Given the description of an element on the screen output the (x, y) to click on. 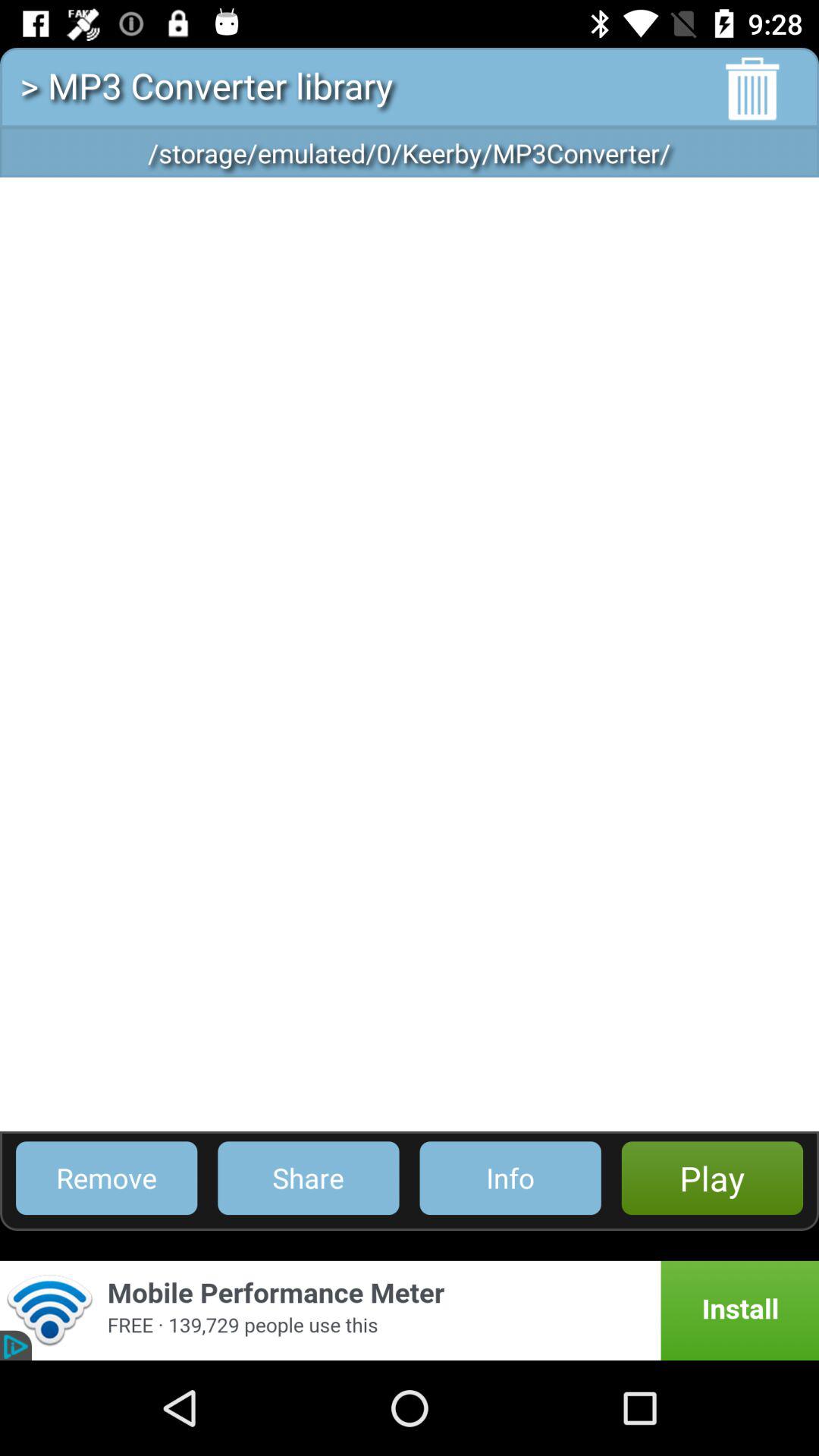
turn on the icon below storage emulated 0 item (409, 654)
